Given the description of an element on the screen output the (x, y) to click on. 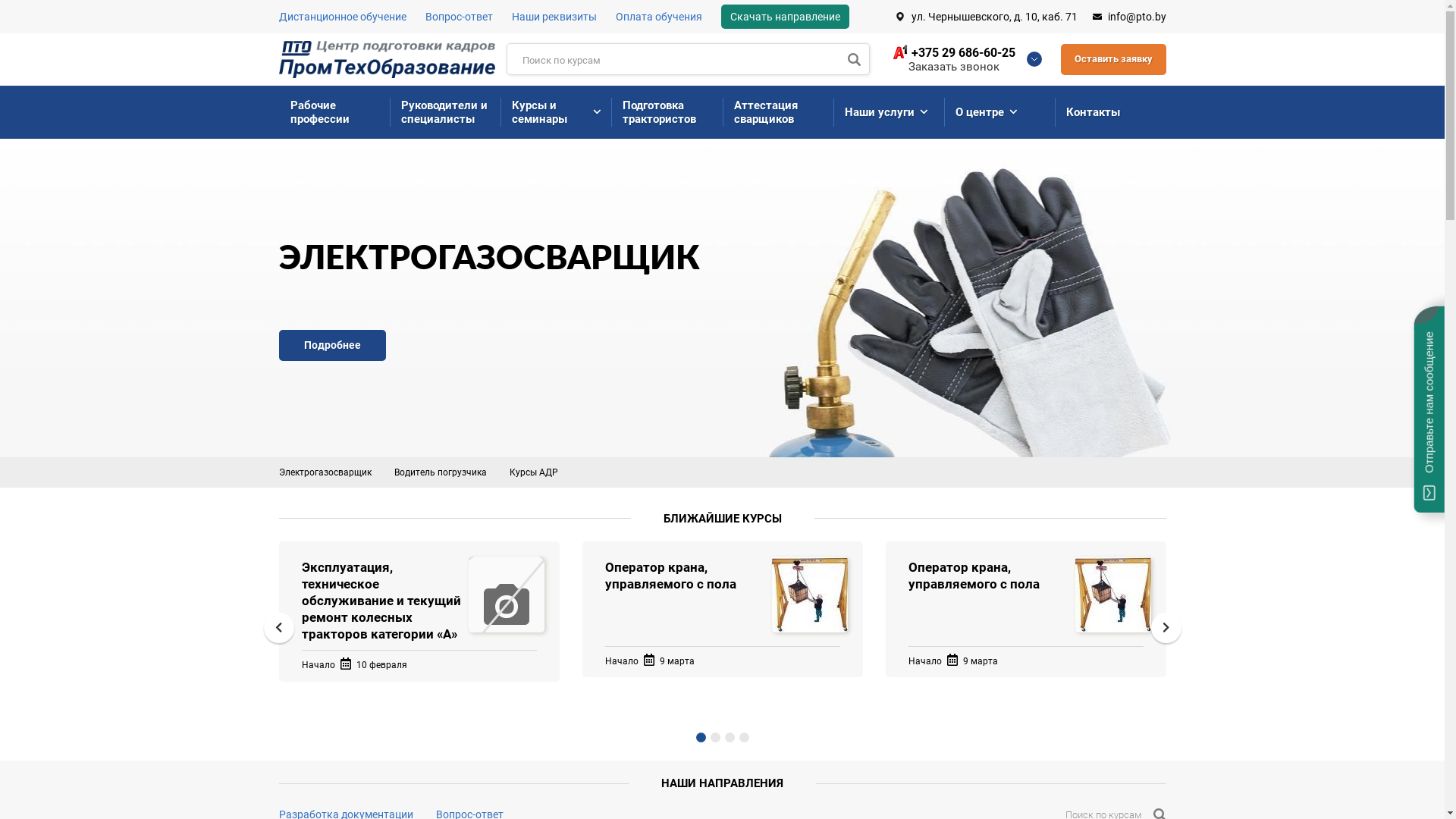
+375 29 686-60-25 Element type: text (952, 52)
info@pto.by Element type: text (1128, 16)
